Given the description of an element on the screen output the (x, y) to click on. 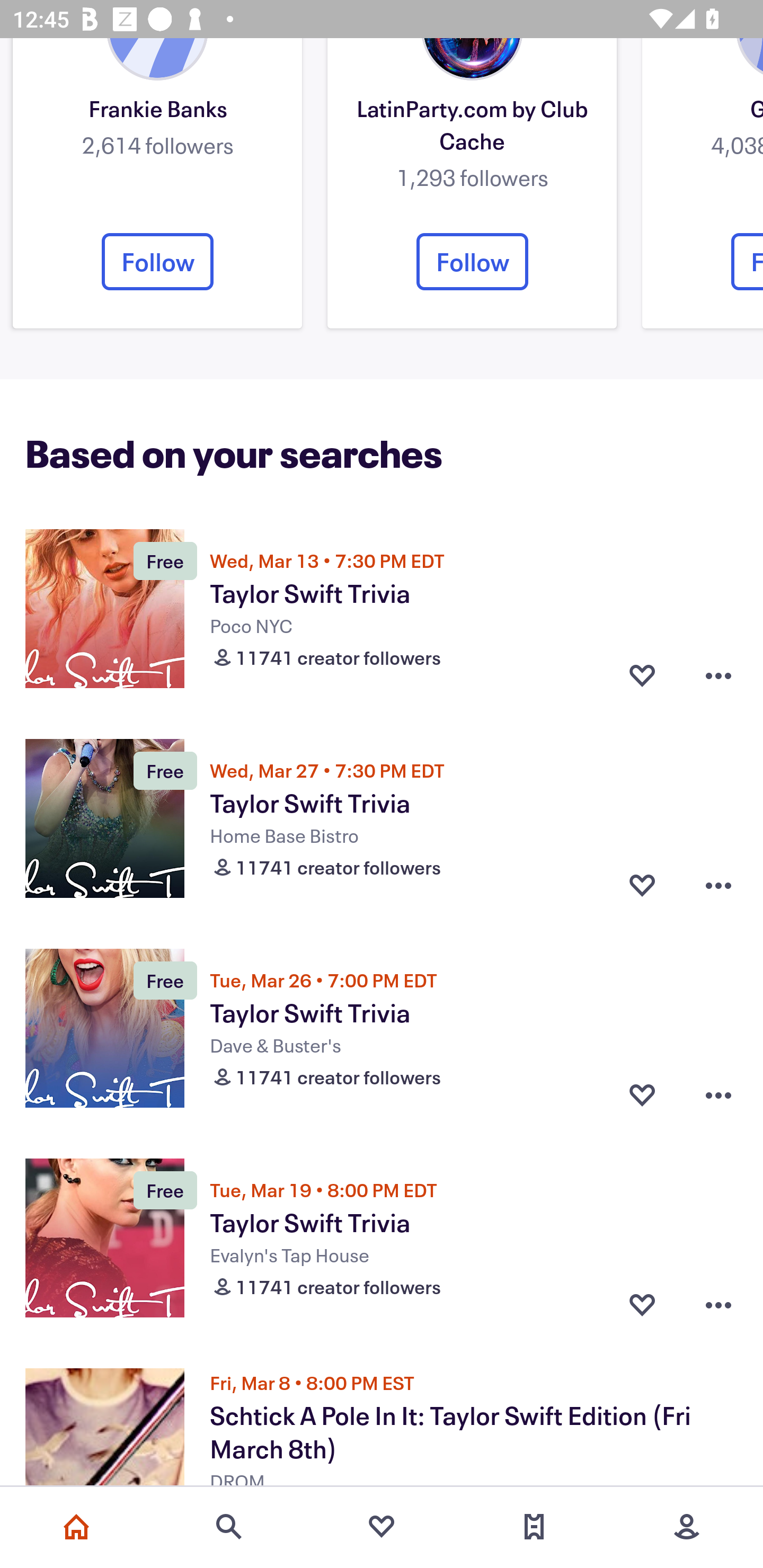
Follow Organizer's follow button (157, 261)
Follow Organizer's follow button (471, 261)
Favorite button (642, 675)
Overflow menu button (718, 675)
Favorite button (642, 885)
Overflow menu button (718, 885)
Favorite button (642, 1094)
Overflow menu button (718, 1094)
Favorite button (642, 1304)
Overflow menu button (718, 1304)
Home (76, 1526)
Search events (228, 1526)
Favorites (381, 1526)
Tickets (533, 1526)
Favorite button (642, 1487)
More (686, 1526)
